Given the description of an element on the screen output the (x, y) to click on. 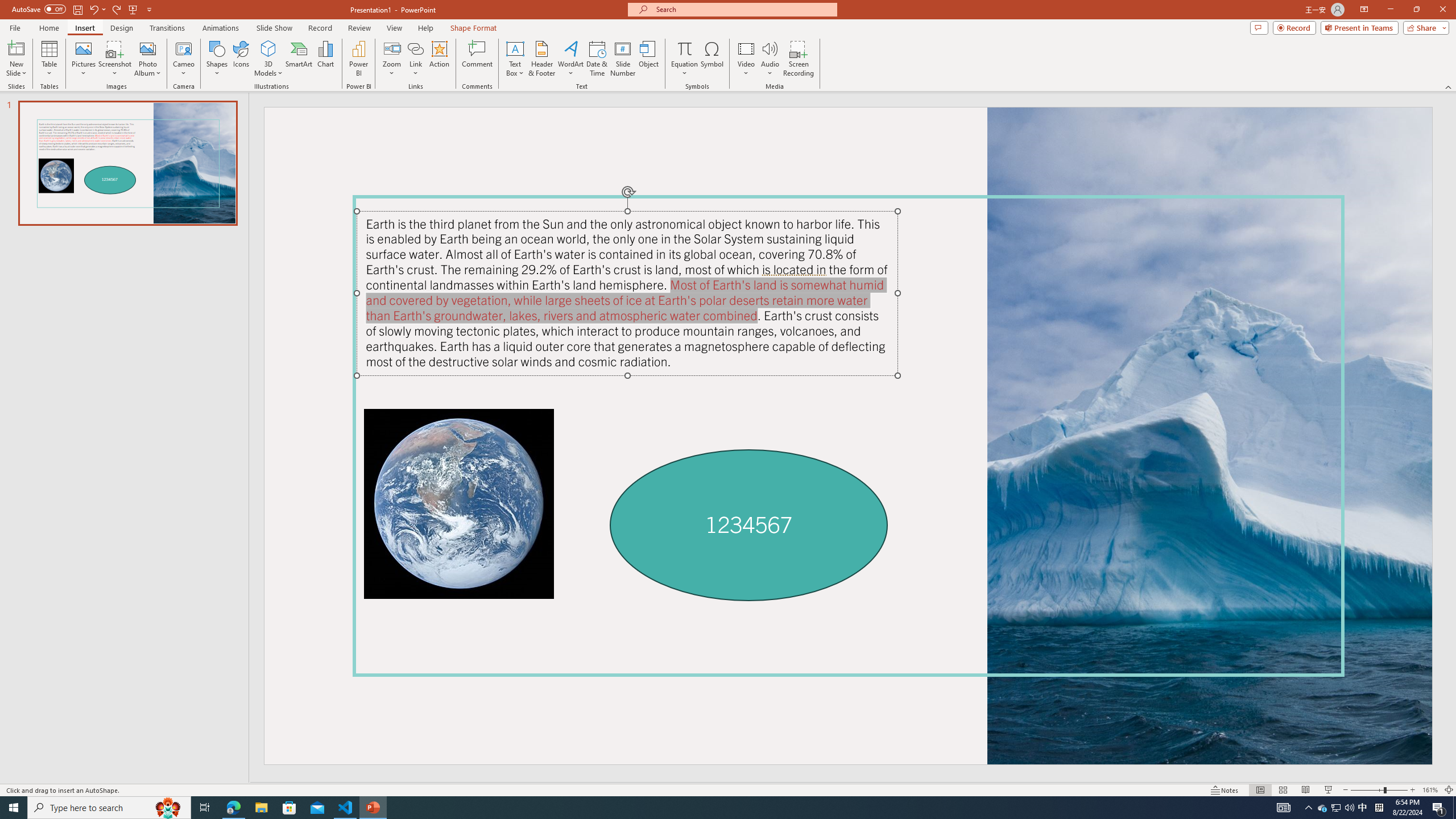
Draw Horizontal Text Box (515, 48)
Table (49, 58)
Slide Number (622, 58)
WordArt (570, 58)
Photo Album... (147, 58)
Power BI (358, 58)
Object... (649, 58)
